Given the description of an element on the screen output the (x, y) to click on. 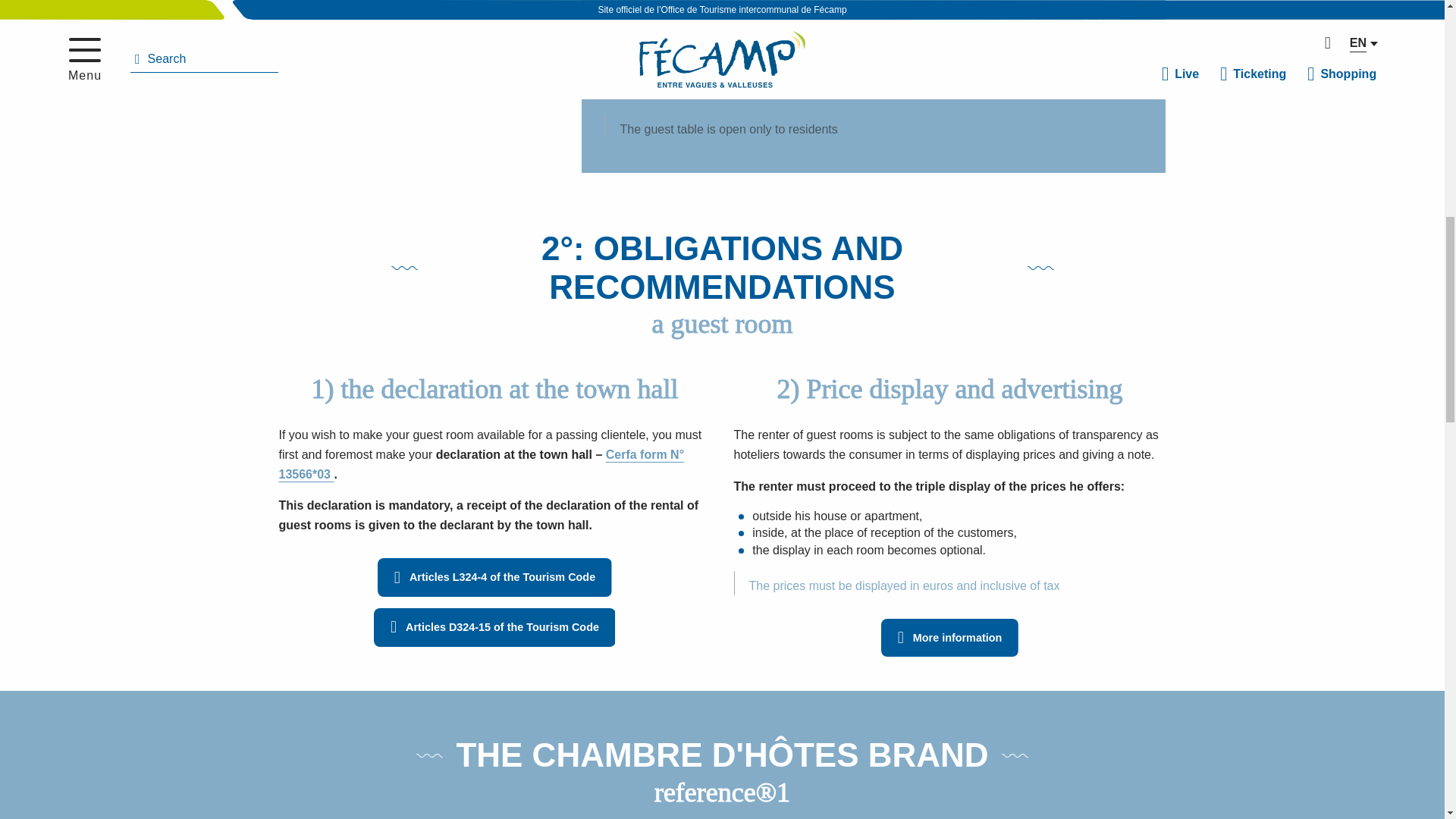
Articles L324-4 of the Tourism Code (494, 577)
Articles D324-15 of the Tourism Code (494, 627)
More information (948, 638)
